Given the description of an element on the screen output the (x, y) to click on. 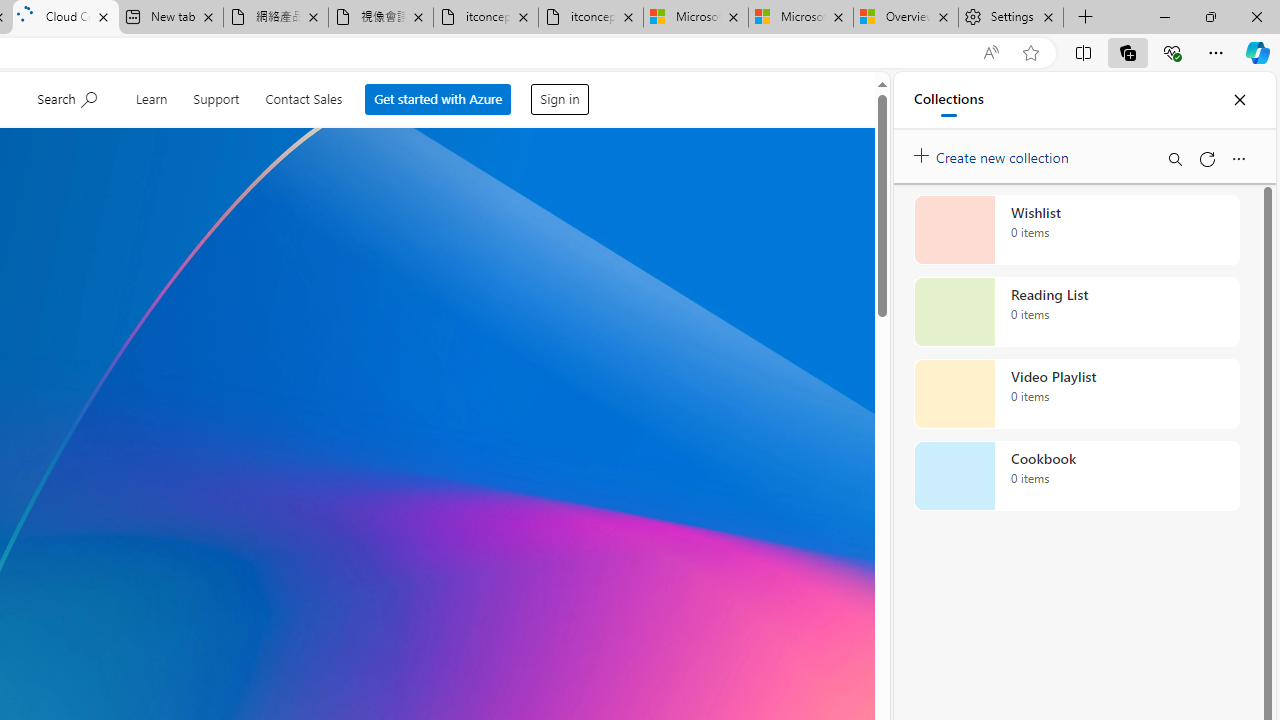
Support (219, 96)
Wishlist collection, 0 items (1076, 229)
Cloud Computing Services | Microsoft Azure (65, 17)
More options menu (1238, 158)
Support (219, 96)
Get started with Azure (441, 93)
